Given the description of an element on the screen output the (x, y) to click on. 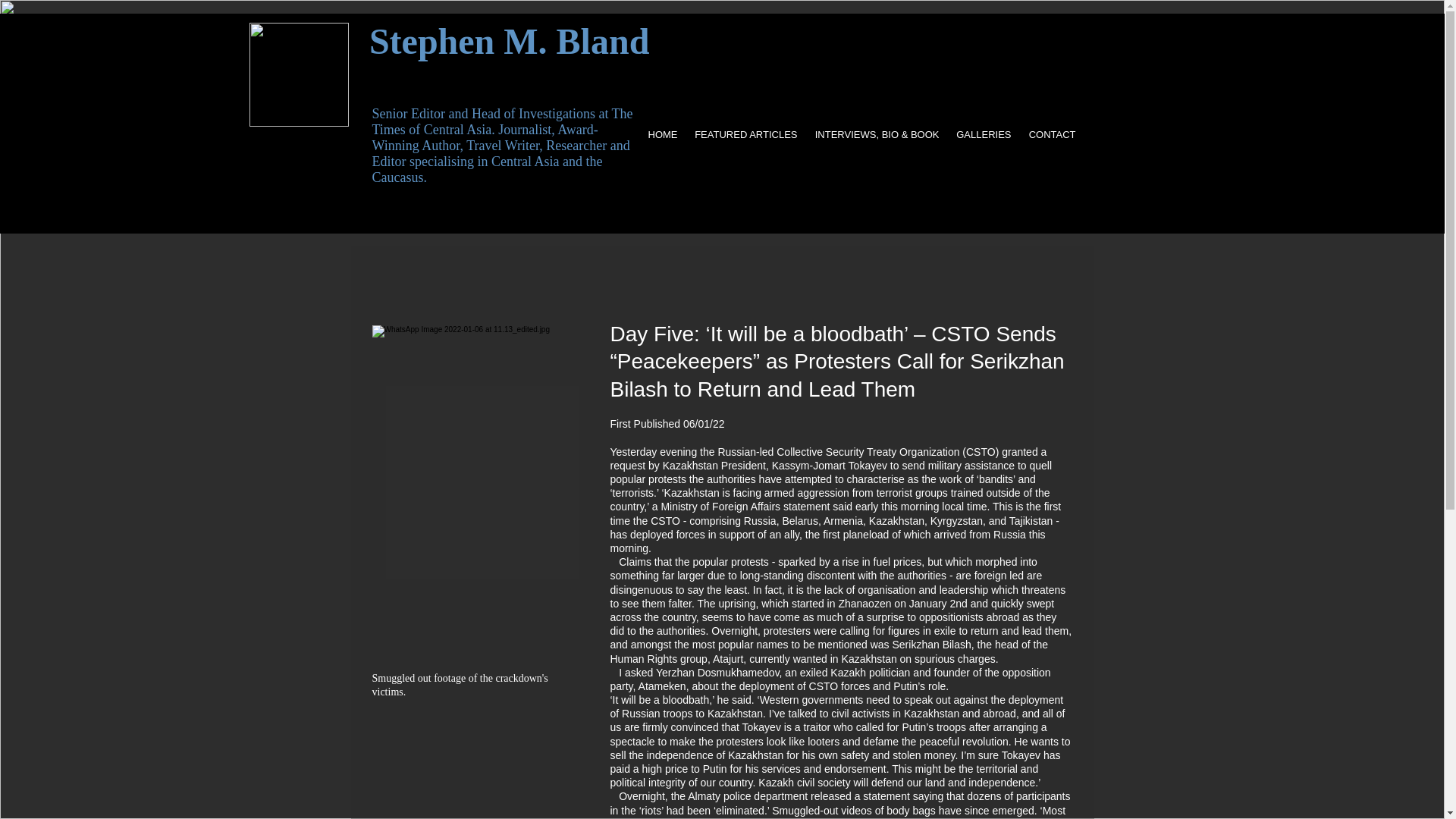
FEATURED ARTICLES (745, 134)
GALLERIES (983, 134)
CONTACT (1051, 134)
HOME (662, 134)
